Given the description of an element on the screen output the (x, y) to click on. 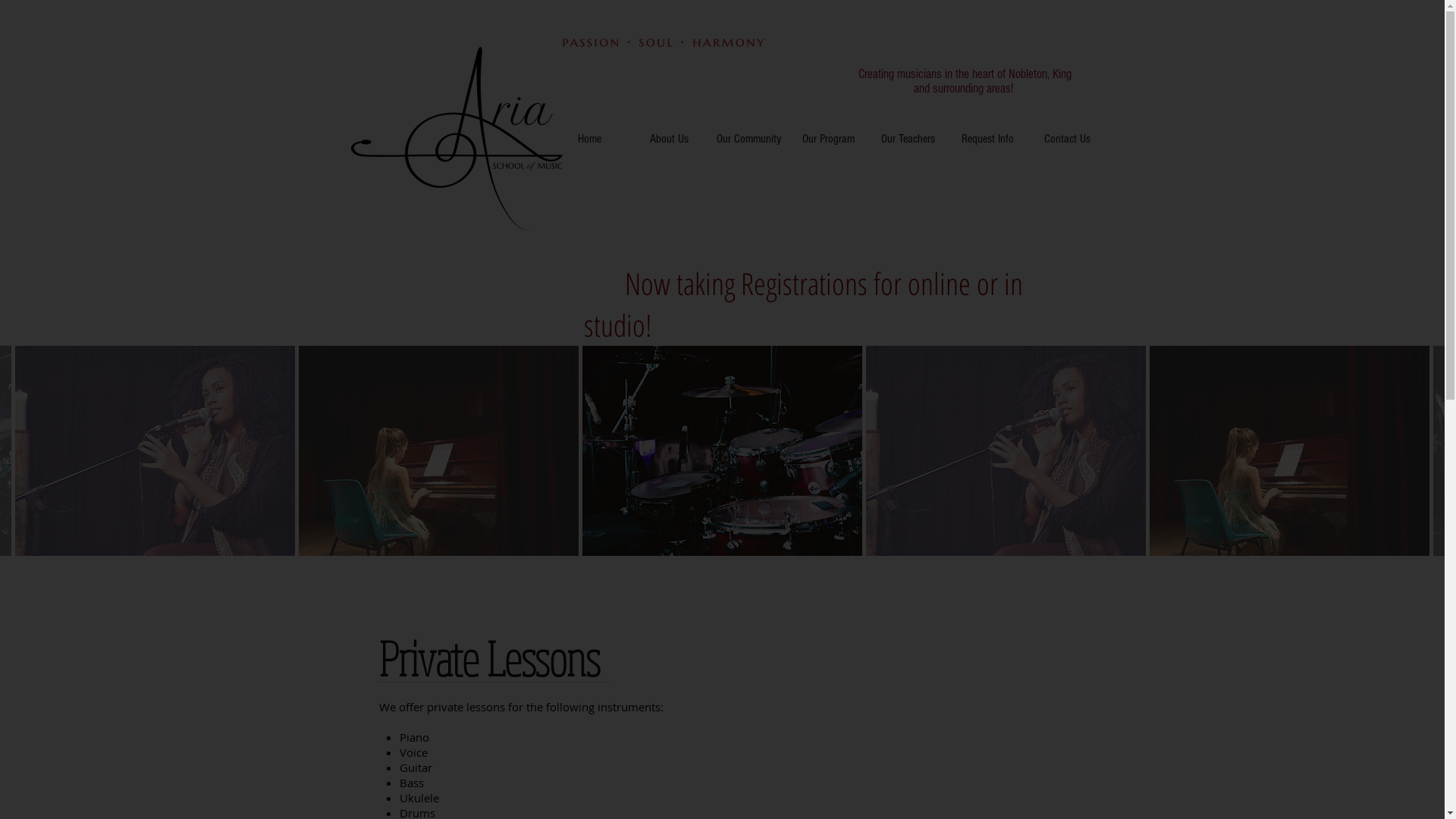
Home Element type: text (588, 138)
Back to site Element type: hover (1035, 181)
Request Info Element type: text (987, 138)
Contact Us Element type: text (1066, 138)
Our Community Element type: text (747, 138)
About Us Element type: text (669, 138)
